Given the description of an element on the screen output the (x, y) to click on. 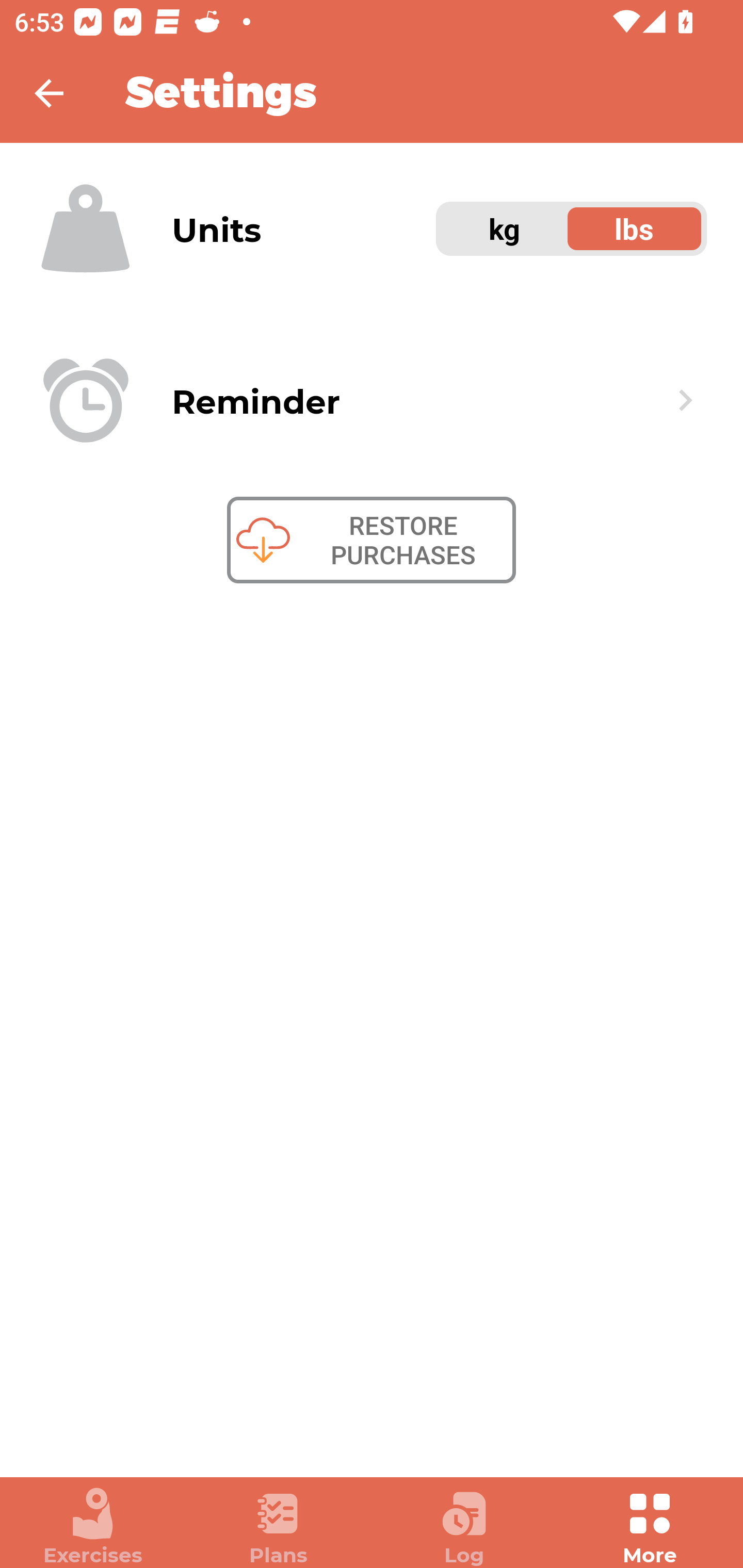
kg (504, 228)
lbs (634, 228)
Reminder (371, 400)
RESTORE PURCHASES (371, 540)
Exercises (92, 1527)
Plans (278, 1527)
Log (464, 1527)
More (650, 1527)
